Given the description of an element on the screen output the (x, y) to click on. 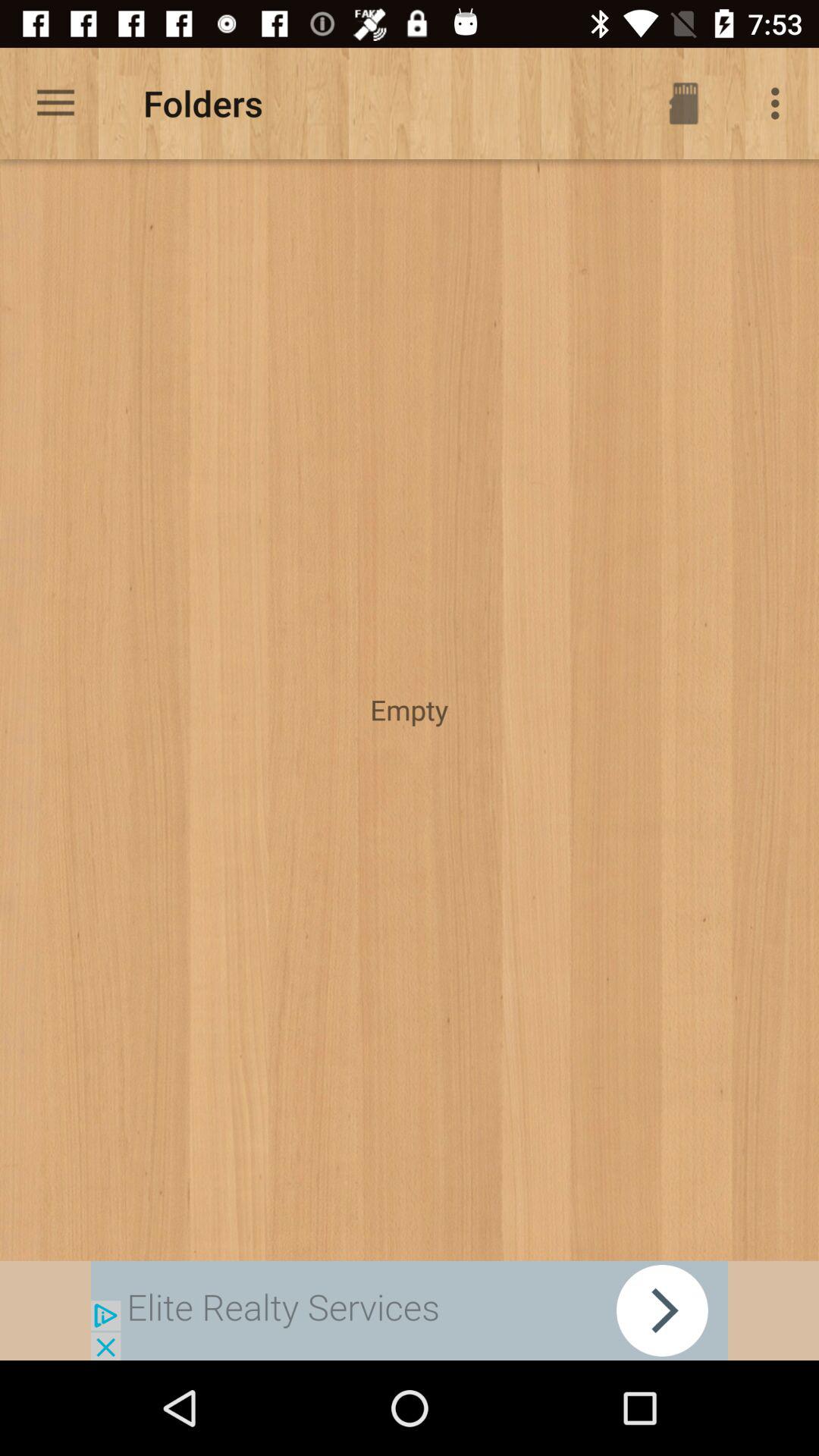
see advertisement (409, 1310)
